Given the description of an element on the screen output the (x, y) to click on. 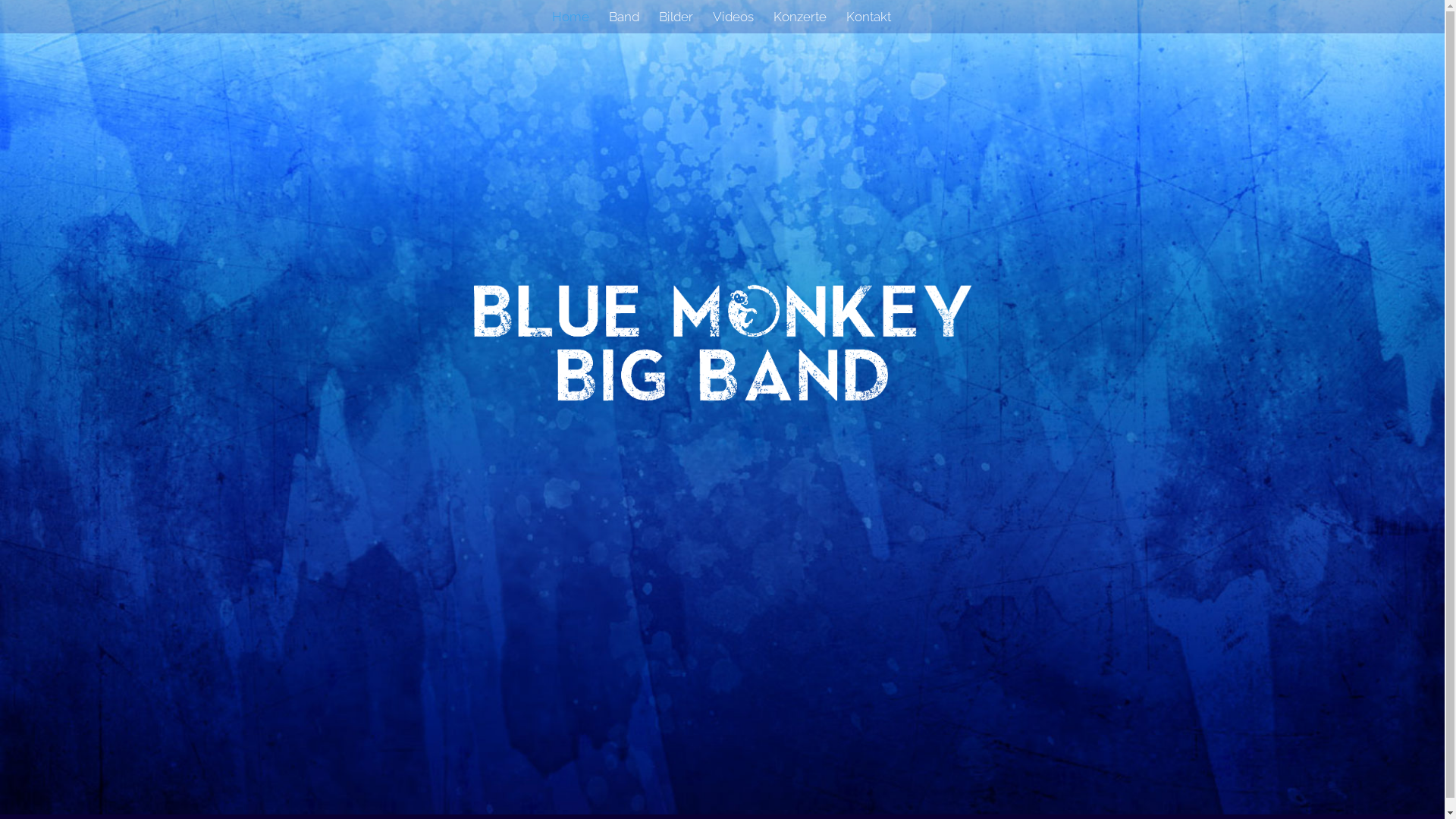
Home Element type: text (570, 22)
Band Element type: text (623, 22)
Videos Element type: text (732, 22)
Konzerte Element type: text (799, 22)
Bilder Element type: text (675, 22)
Kontakt Element type: text (868, 22)
